Given the description of an element on the screen output the (x, y) to click on. 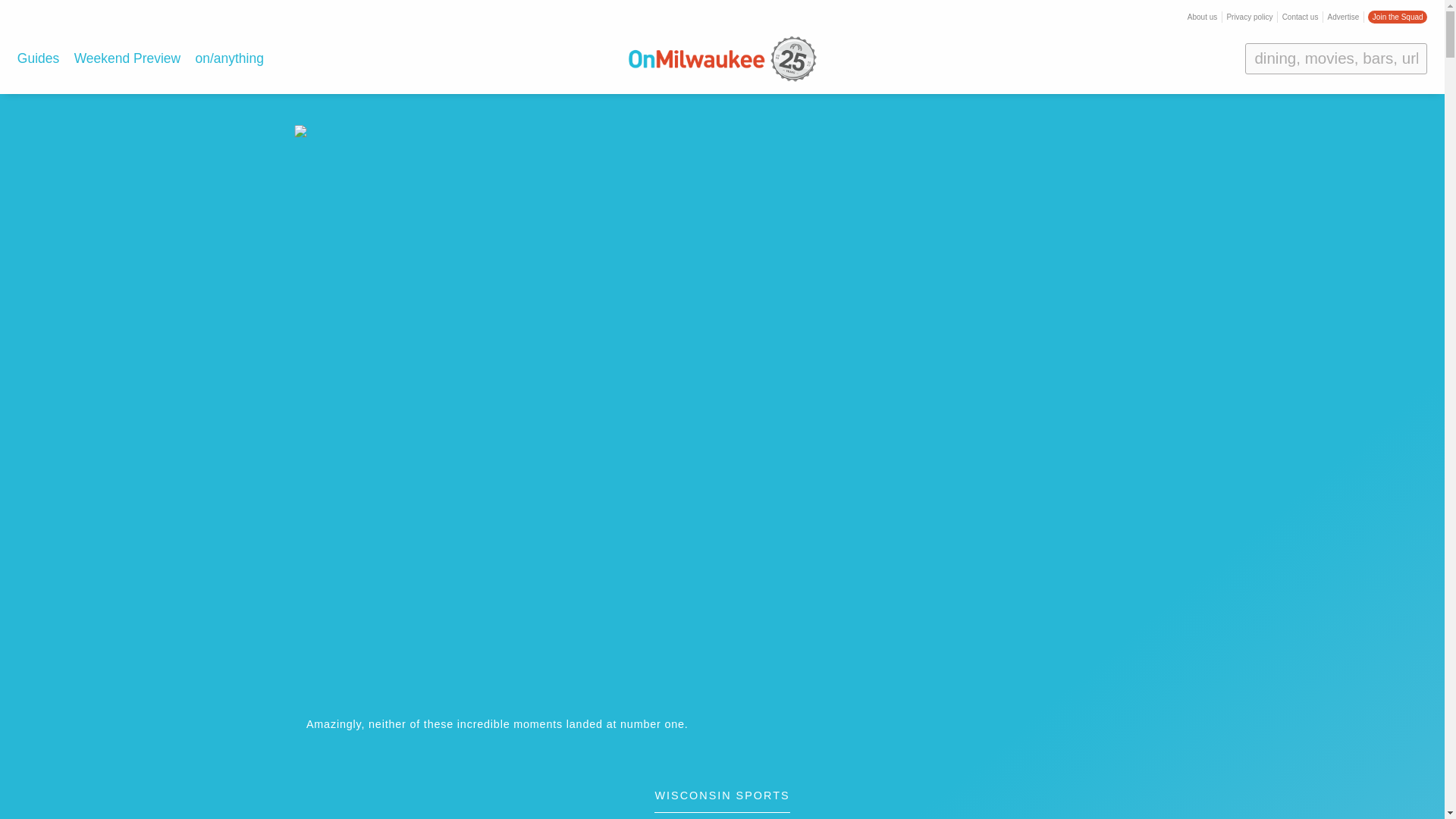
Contact us (1300, 17)
dining, movies, bars, urban spelunking (1335, 58)
dining, movies, bars, urban spelunking (1335, 58)
Privacy policy (1248, 17)
Weekend Preview (127, 58)
Guides (38, 58)
Join the Squad (1397, 16)
About us (1202, 17)
WISCONSIN SPORTS (721, 801)
